Given the description of an element on the screen output the (x, y) to click on. 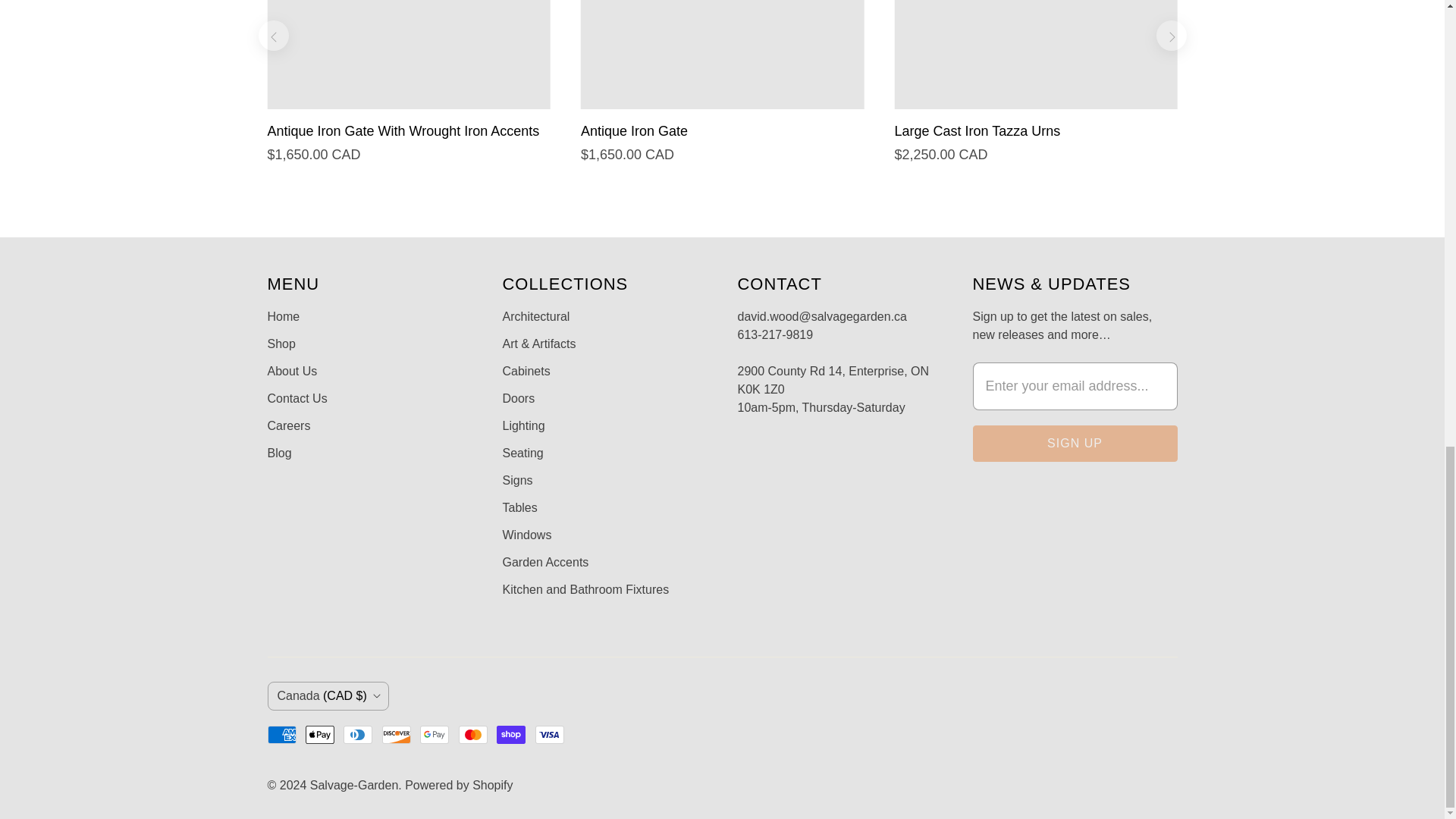
Google Pay (434, 734)
Visa (549, 734)
Diners Club (357, 734)
Discover (395, 734)
Sign Up (1074, 443)
Mastercard (472, 734)
Shop Pay (510, 734)
Apple Pay (319, 734)
American Express (280, 734)
